Given the description of an element on the screen output the (x, y) to click on. 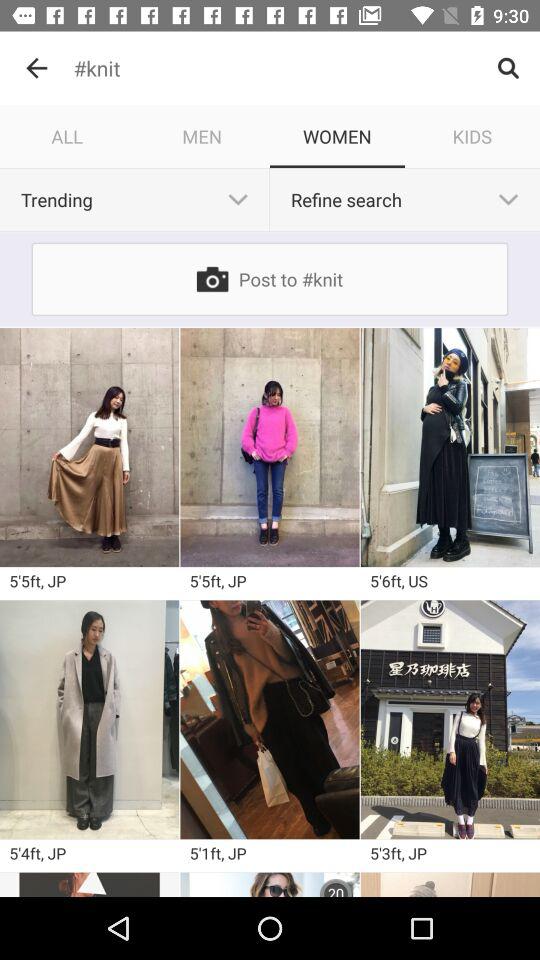
choose icon to the right of all icon (202, 136)
